Given the description of an element on the screen output the (x, y) to click on. 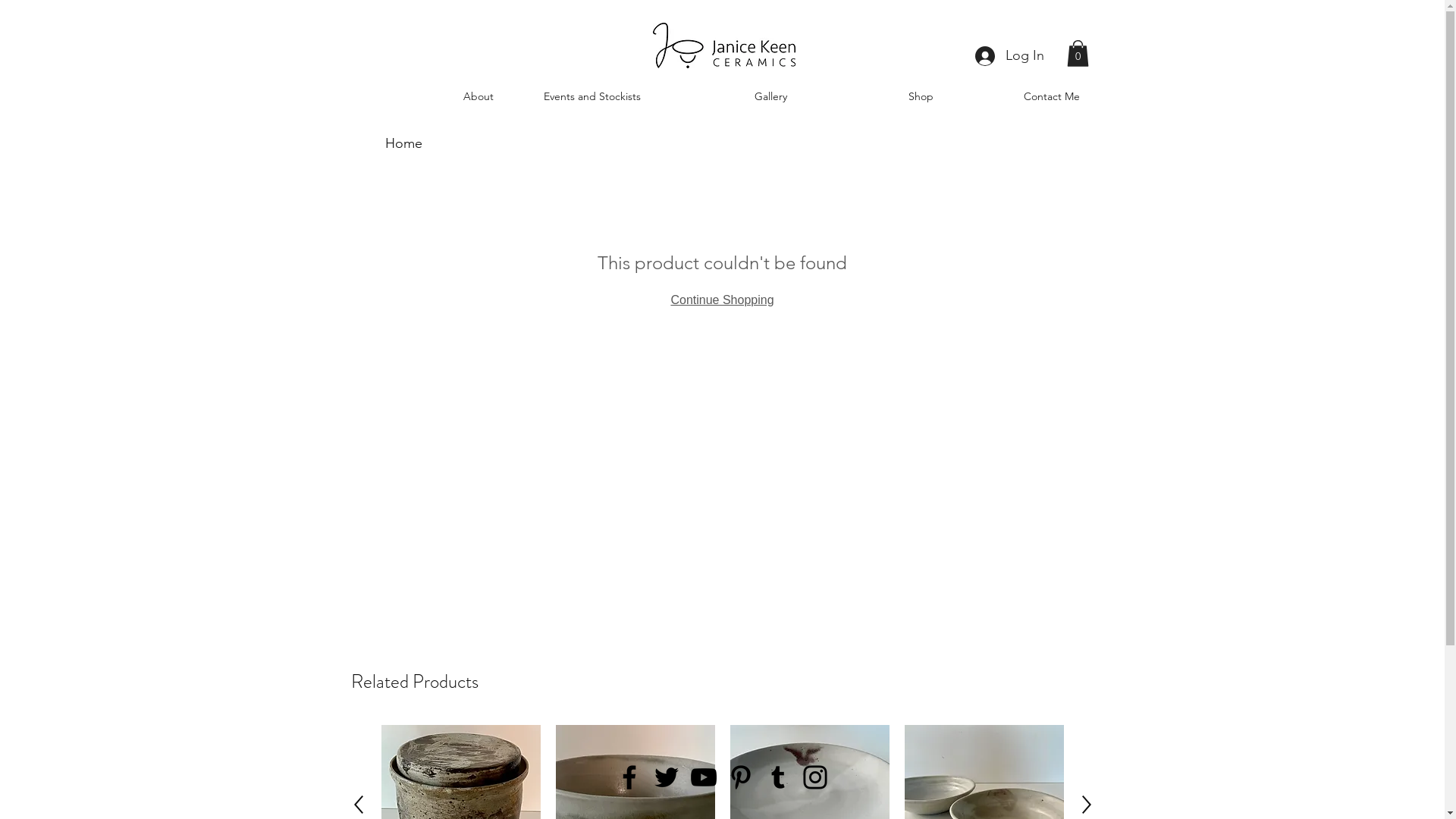
Gallery Element type: text (720, 95)
Contact Me Element type: text (1013, 95)
Shop Element type: text (867, 95)
About Element type: text (426, 95)
Continue Shopping Element type: text (721, 298)
0 Element type: text (1077, 53)
Home Element type: text (403, 142)
Log In Element type: text (1009, 55)
Events and Stockists Element type: text (573, 95)
